Given the description of an element on the screen output the (x, y) to click on. 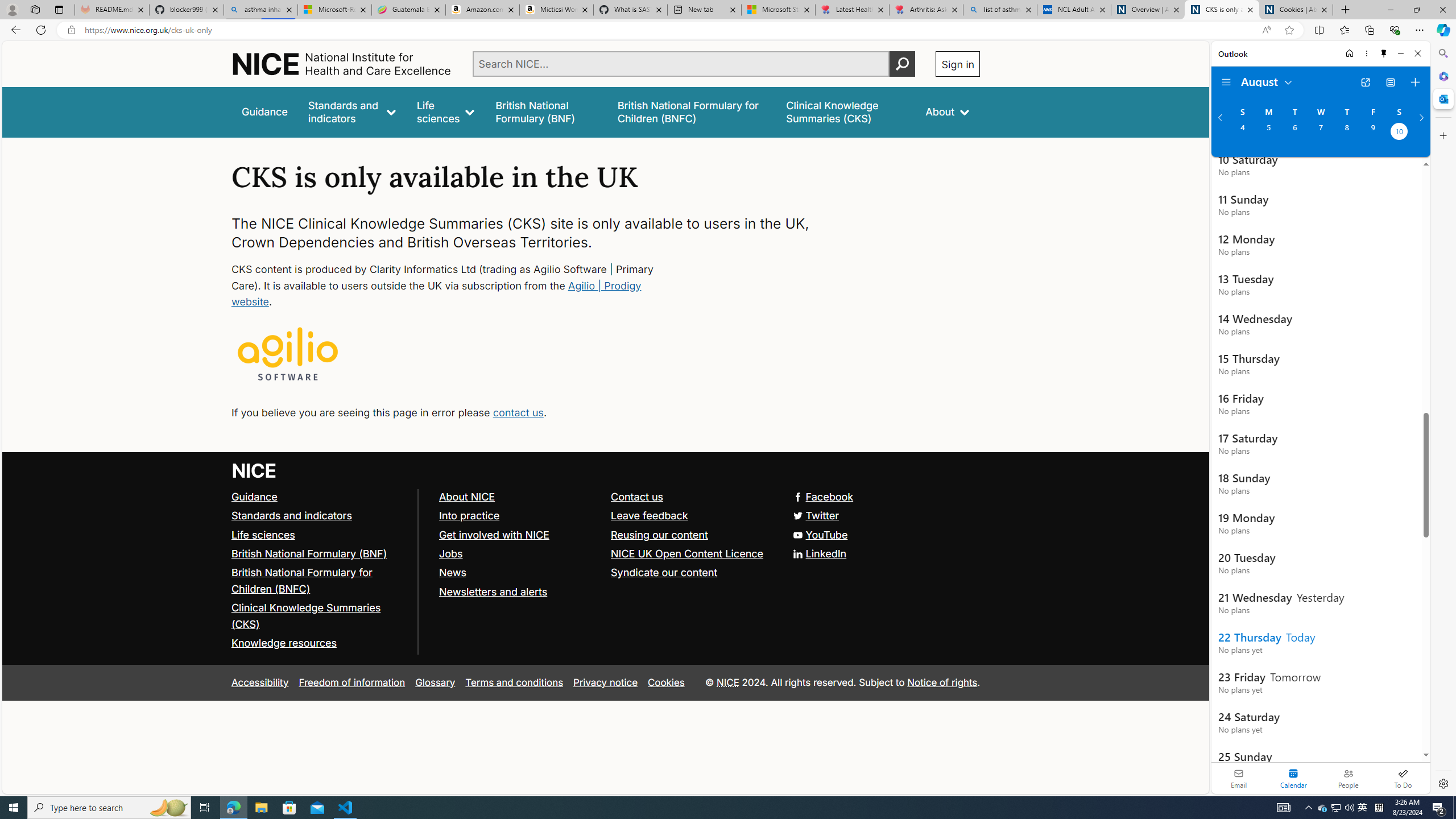
Side bar (1443, 418)
Twitter (816, 515)
Syndicate our content (692, 572)
Arthritis: Ask Health Professionals (925, 9)
Newsletters and alerts (518, 591)
Search (1442, 53)
Home (341, 63)
News (518, 572)
Perform search (902, 63)
Add this page to favorites (Ctrl+D) (1289, 29)
Jobs (518, 553)
Into practice (468, 515)
Copilot (Ctrl+Shift+.) (1442, 29)
